Given the description of an element on the screen output the (x, y) to click on. 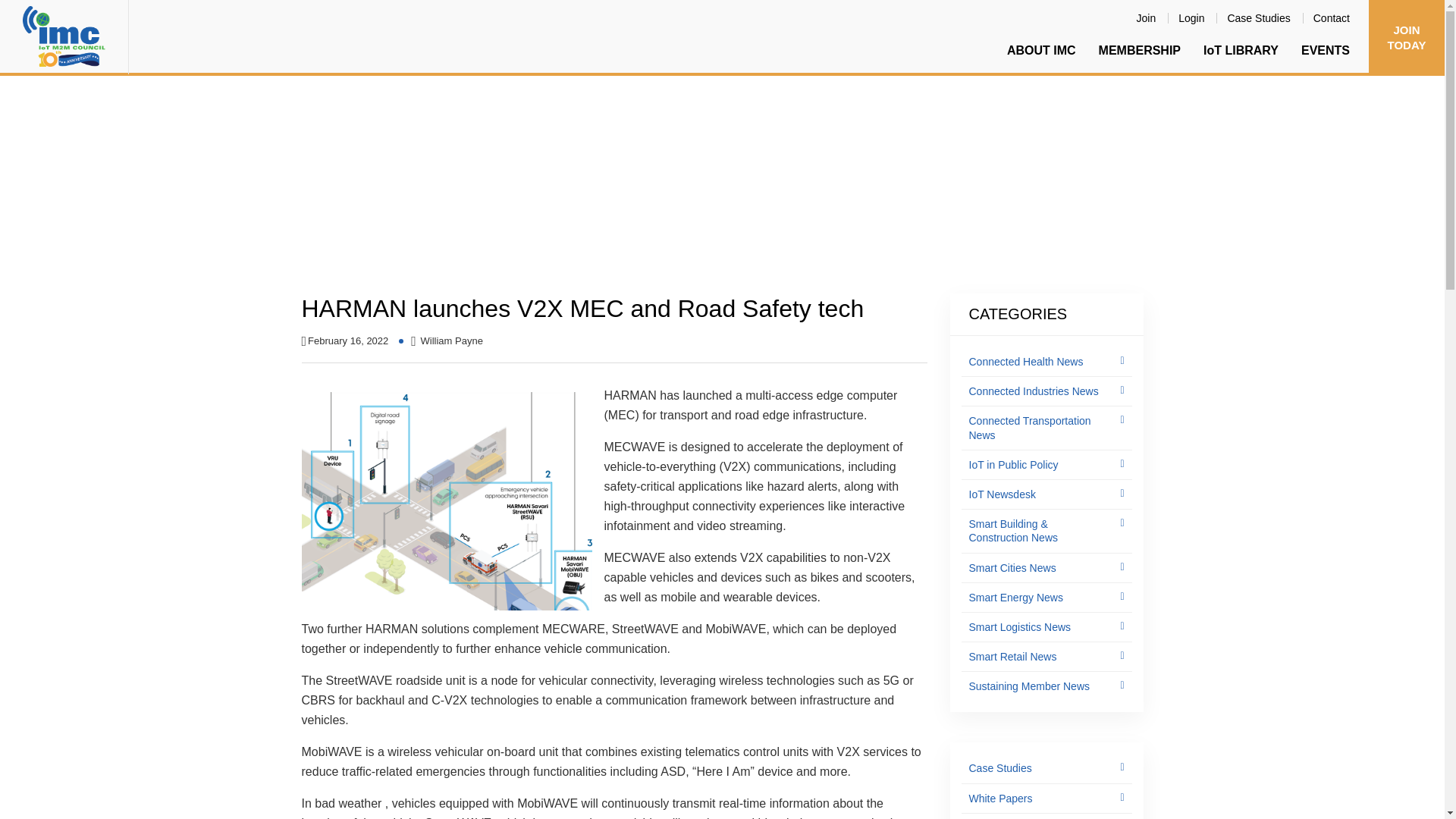
News (427, 202)
EVENTS (1325, 50)
Home (317, 202)
Case Studies (1258, 17)
Contact (1331, 17)
IoT Library (372, 202)
Join (1146, 17)
Login (1191, 17)
Connected Transportation News (538, 202)
HARMAN launches V2X MEC and Road Safety tech (775, 202)
